Given the description of an element on the screen output the (x, y) to click on. 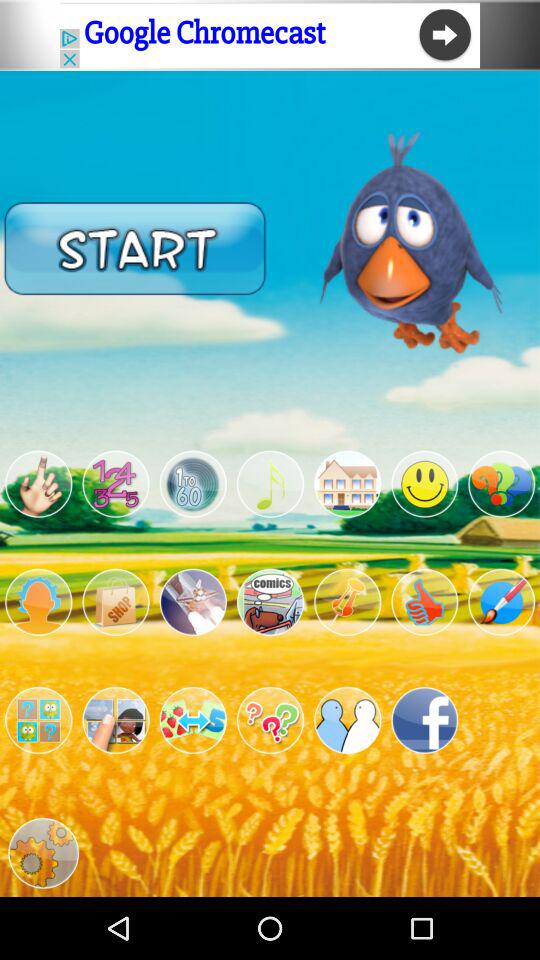
play game mode (501, 602)
